Given the description of an element on the screen output the (x, y) to click on. 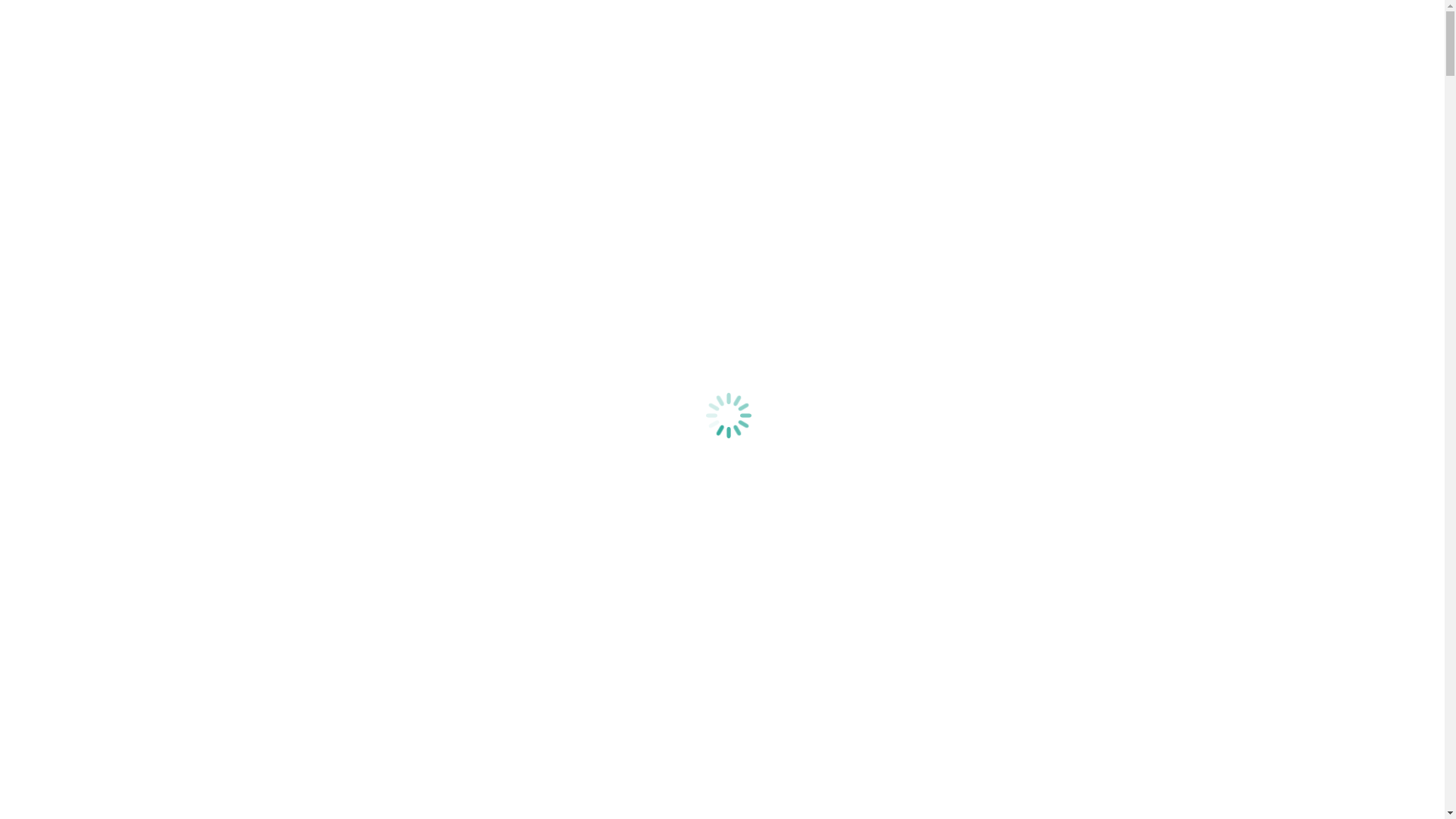
Harmonisch leben Element type: text (80, 78)
Klangtherapie Element type: text (100, 133)
Linkedin page opens in new window Element type: text (95, 200)
Kontakt Element type: text (55, 321)
Autogenes Training Element type: text (84, 92)
Klangtherapie Element type: text (100, 280)
Harmonisch leben Element type: text (80, 225)
Q&A Element type: text (49, 160)
Q&A Element type: text (49, 307)
Kontakt Element type: text (55, 174)
Autogenes Training Element type: text (84, 239)
Angebot Element type: text (57, 119)
Angebot Element type: text (57, 266)
Skip to content Element type: text (42, 12)
